Given the description of an element on the screen output the (x, y) to click on. 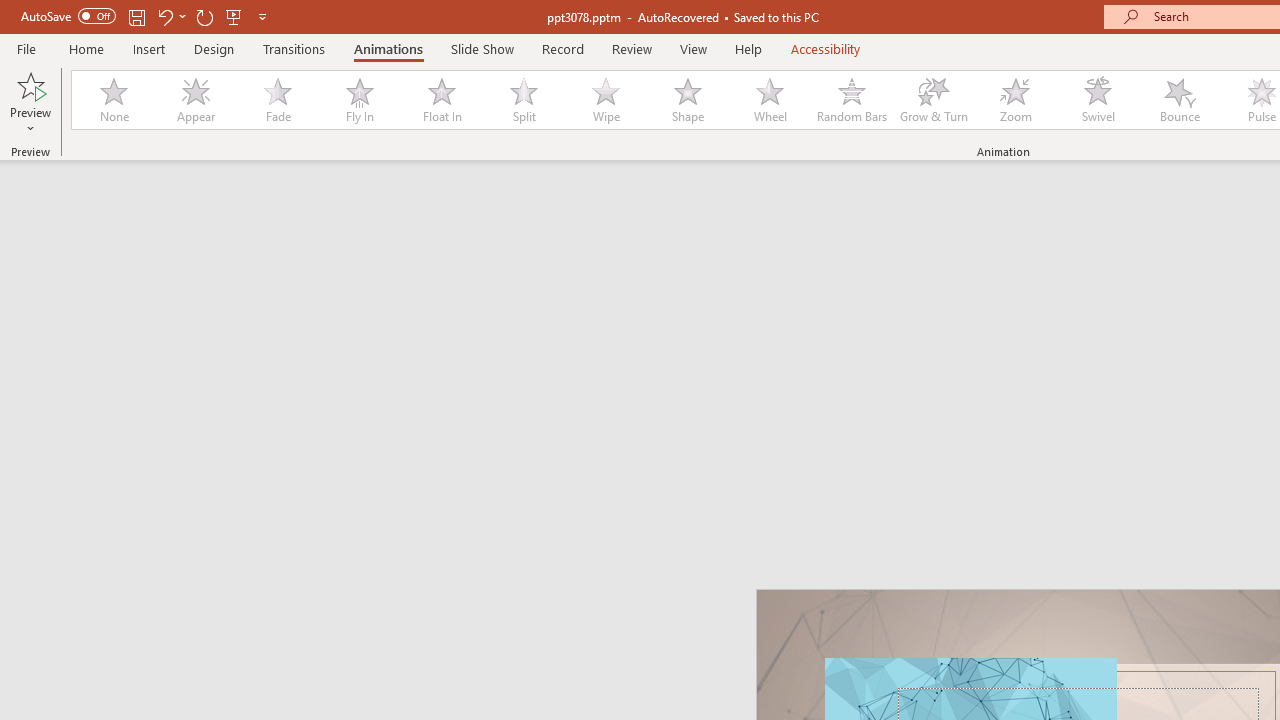
Fade (277, 100)
Wipe (605, 100)
Shape (687, 100)
